Given the description of an element on the screen output the (x, y) to click on. 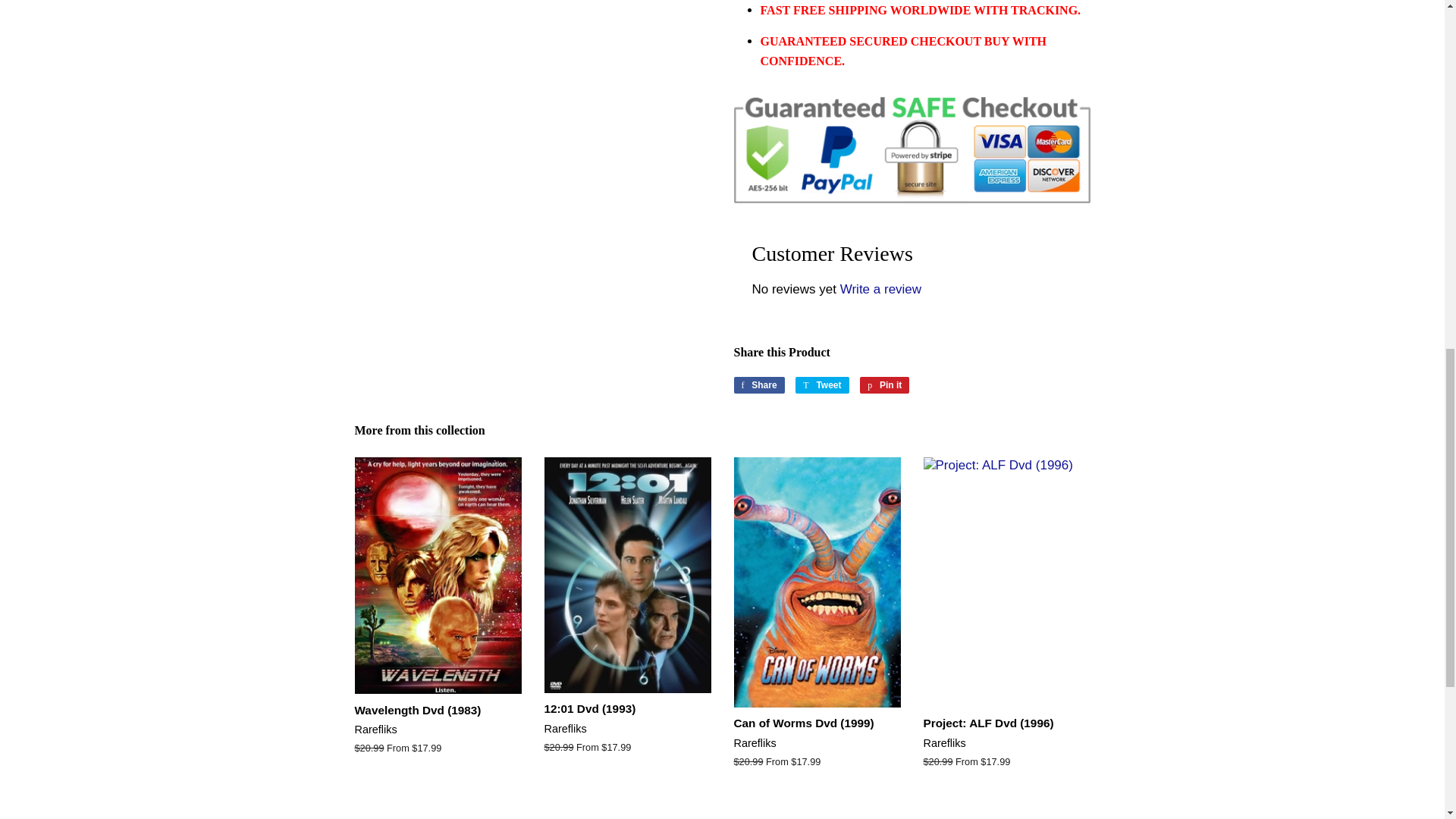
Pin on Pinterest (884, 384)
Tweet on Twitter (821, 384)
Share on Facebook (758, 384)
